Given the description of an element on the screen output the (x, y) to click on. 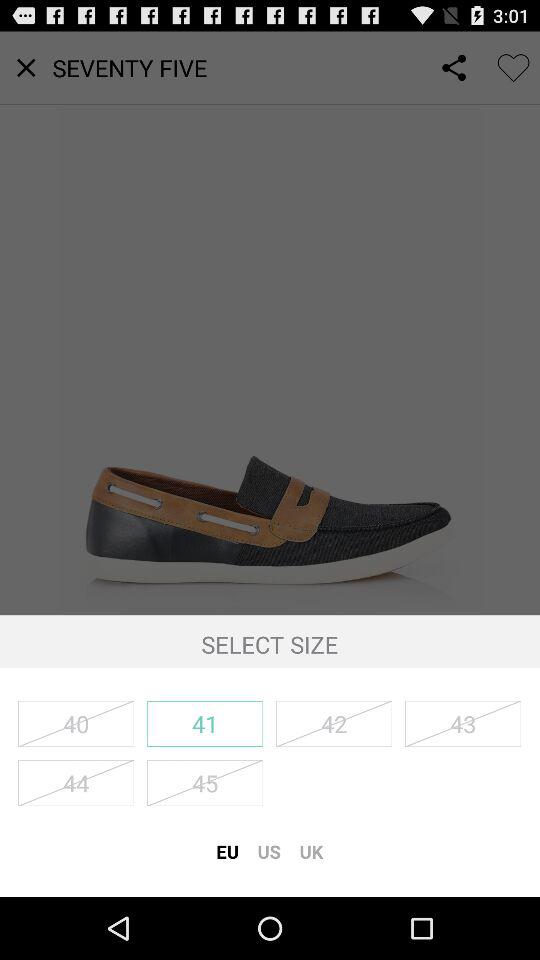
click eu (227, 851)
